Given the description of an element on the screen output the (x, y) to click on. 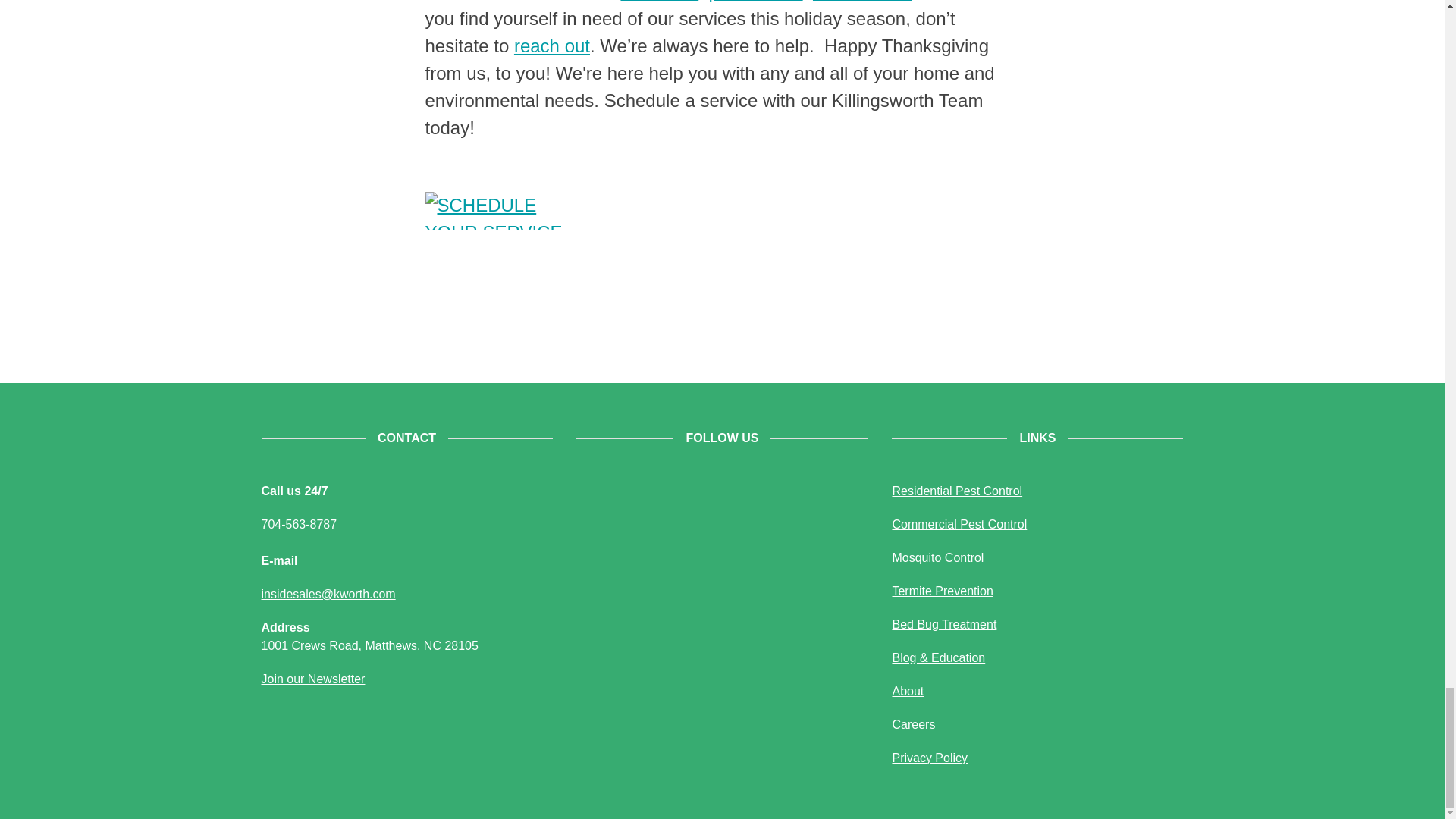
Bed Bug Treatment Charlotte (943, 624)
Careers (912, 724)
Pest Control (956, 490)
Privacy Policy (929, 757)
Blog (938, 657)
Commercial Pest Control (958, 523)
Join Our Newsletter (312, 678)
About (907, 690)
Termite Prevention (941, 590)
Mosquito Control (937, 557)
